Given the description of an element on the screen output the (x, y) to click on. 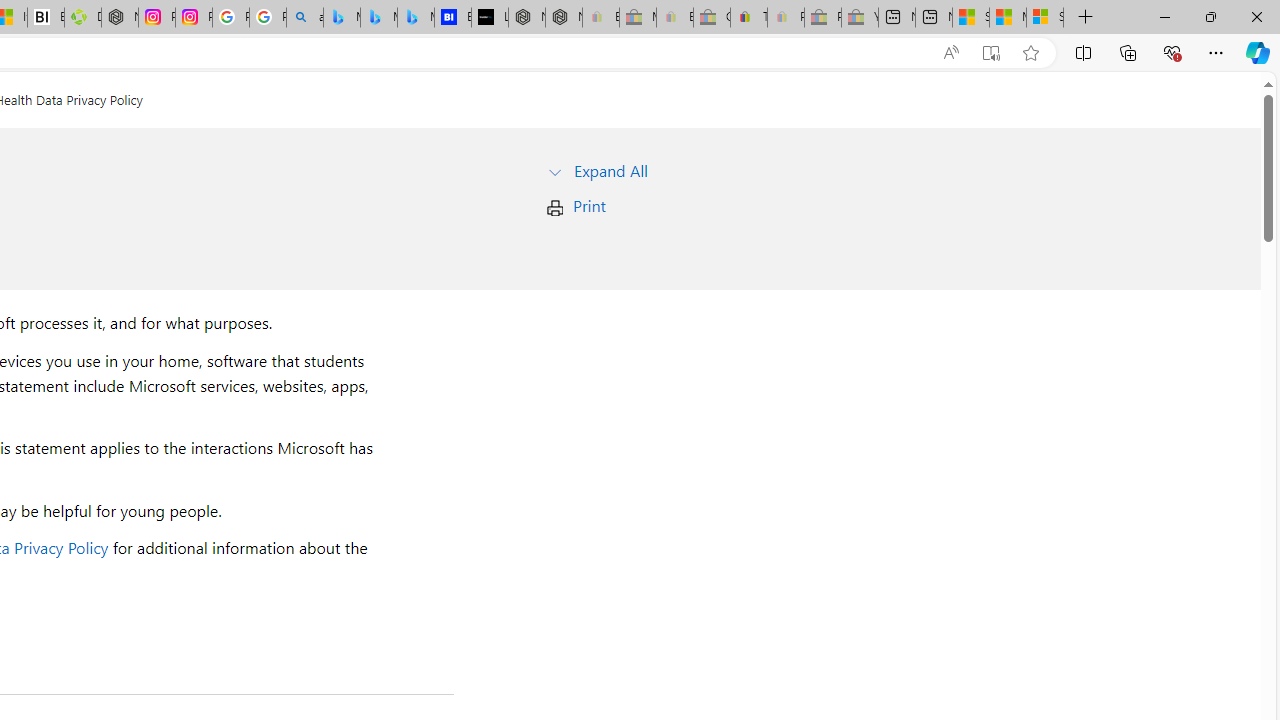
alabama high school quarterback dies - Search (304, 17)
Payments Terms of Use | eBay.com - Sleeping (785, 17)
